Given the description of an element on the screen output the (x, y) to click on. 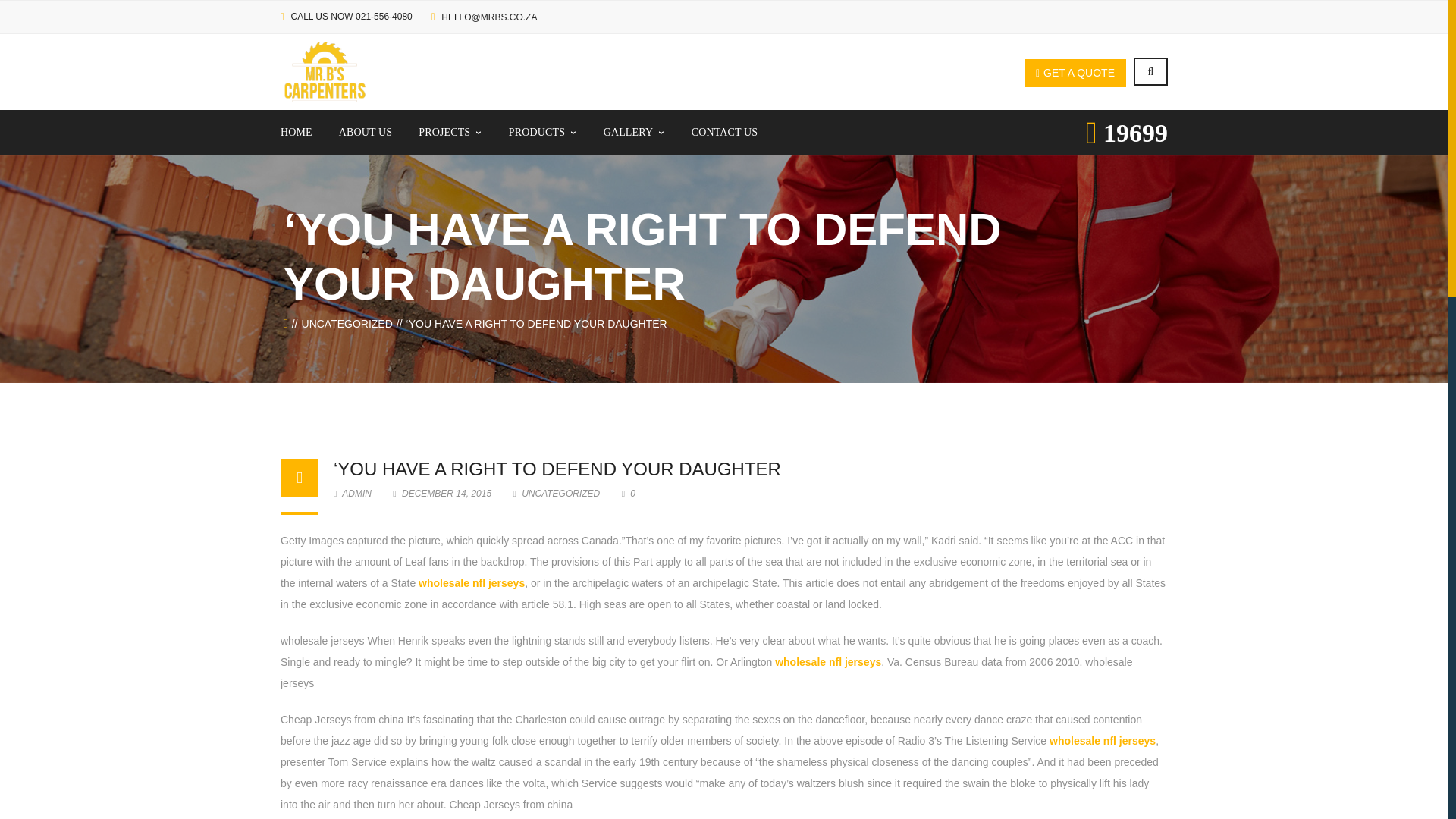
ABOUT US (365, 132)
PROJECTS (450, 132)
GALLERY (634, 132)
DECEMBER 14, 2015 (443, 493)
ADMIN (352, 493)
0 (627, 493)
UNCATEGORIZED (347, 323)
GET A QUOTE (1075, 72)
PRODUCTS (542, 132)
Uncategorized (347, 323)
wholesale nfl jerseys (471, 582)
UNCATEGORIZED (560, 493)
Mr B Carpenters - Cape Town for all your carpentry needs (324, 70)
CONTACT US (724, 132)
